Given the description of an element on the screen output the (x, y) to click on. 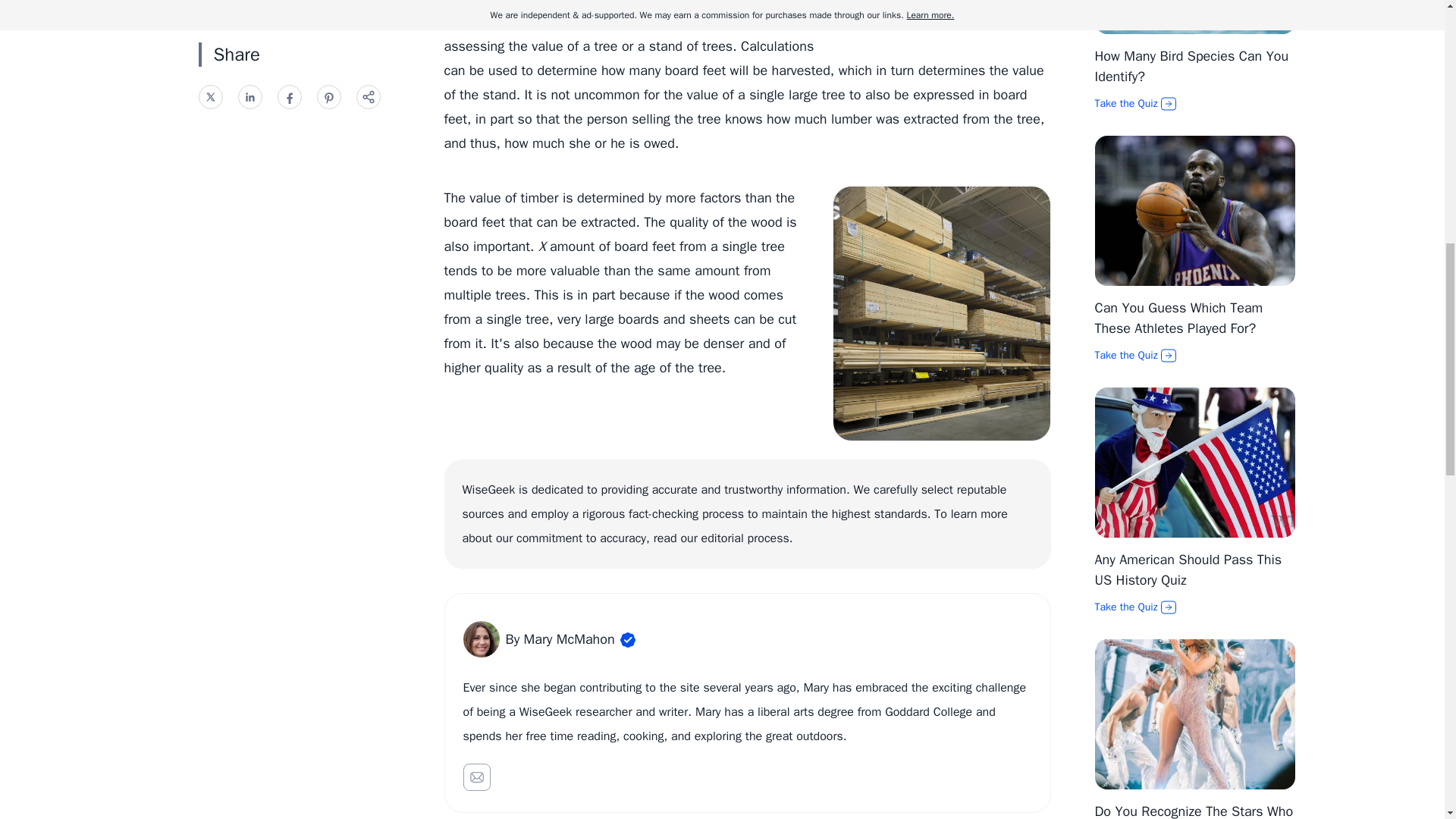
Can You Guess Which Team These Athletes Played For? (1178, 317)
Any American Should Pass This US History Quiz (1188, 569)
How Many Bird Species Can You Identify? (1191, 66)
Take the Quiz (1194, 355)
Take the Quiz (1194, 103)
Take the Quiz (1194, 607)
